Given the description of an element on the screen output the (x, y) to click on. 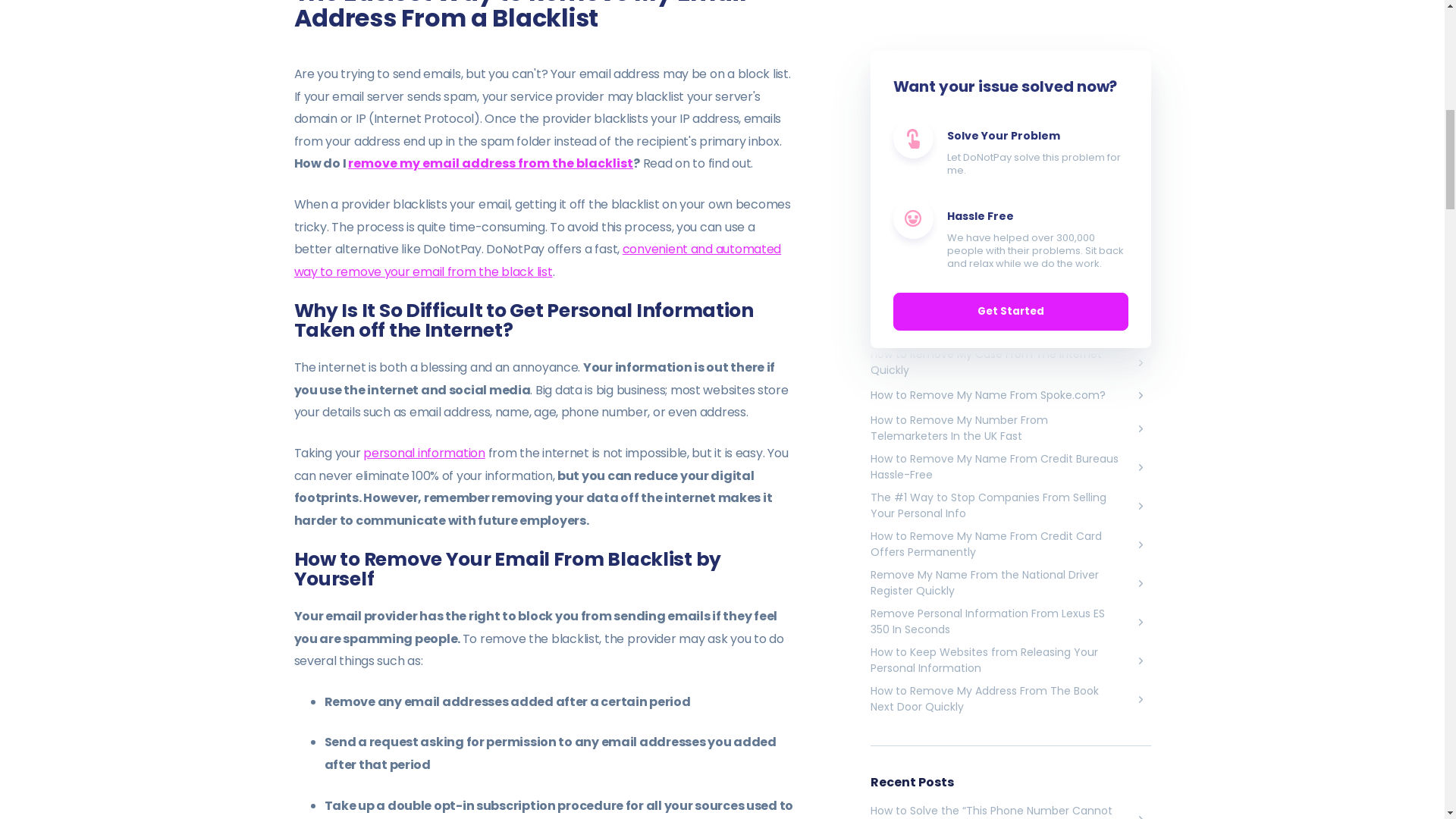
remove my email address from the blacklist (490, 162)
personal information (423, 452)
